Given the description of an element on the screen output the (x, y) to click on. 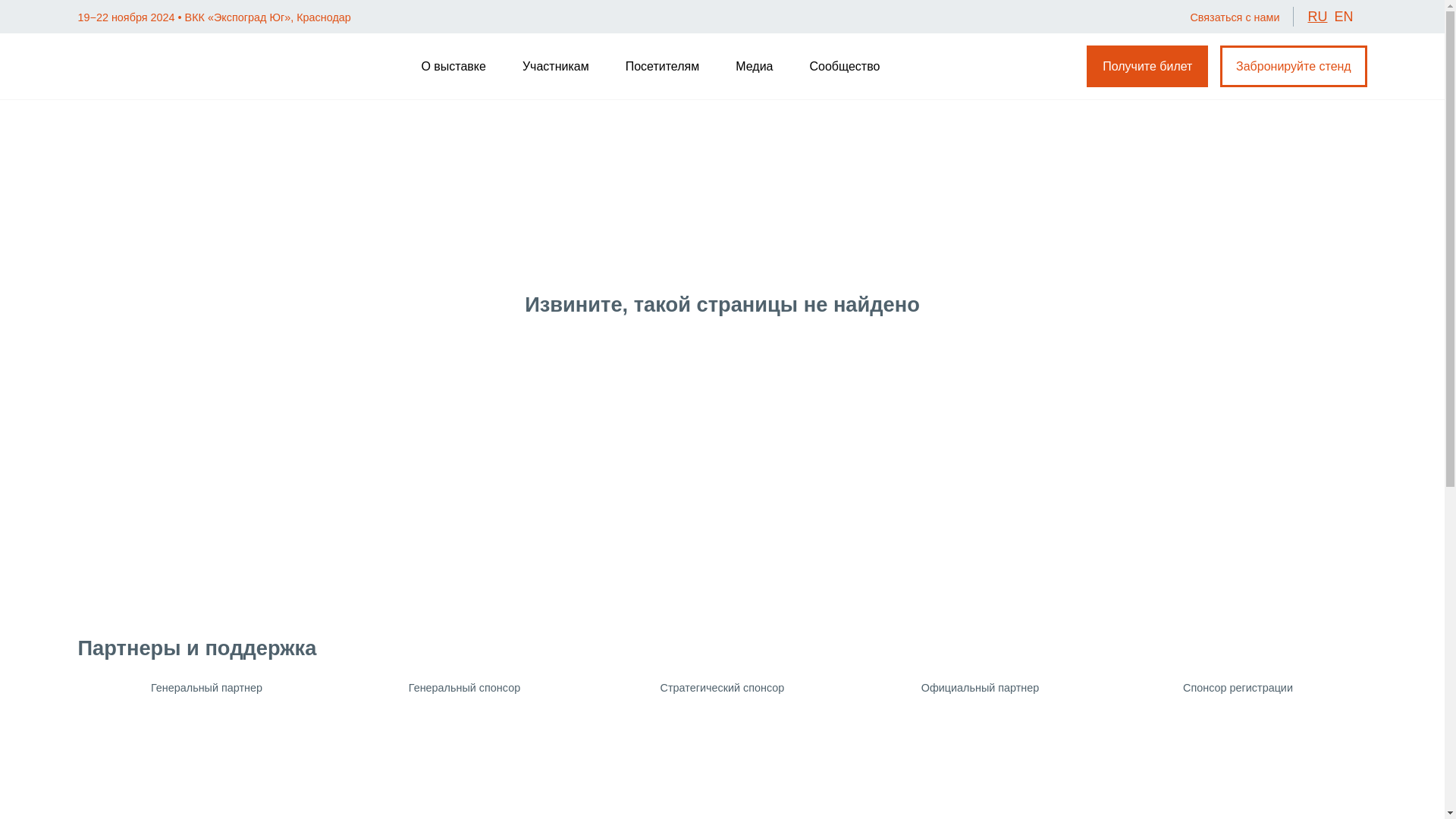
RU (1316, 16)
EN (1342, 16)
